Given the description of an element on the screen output the (x, y) to click on. 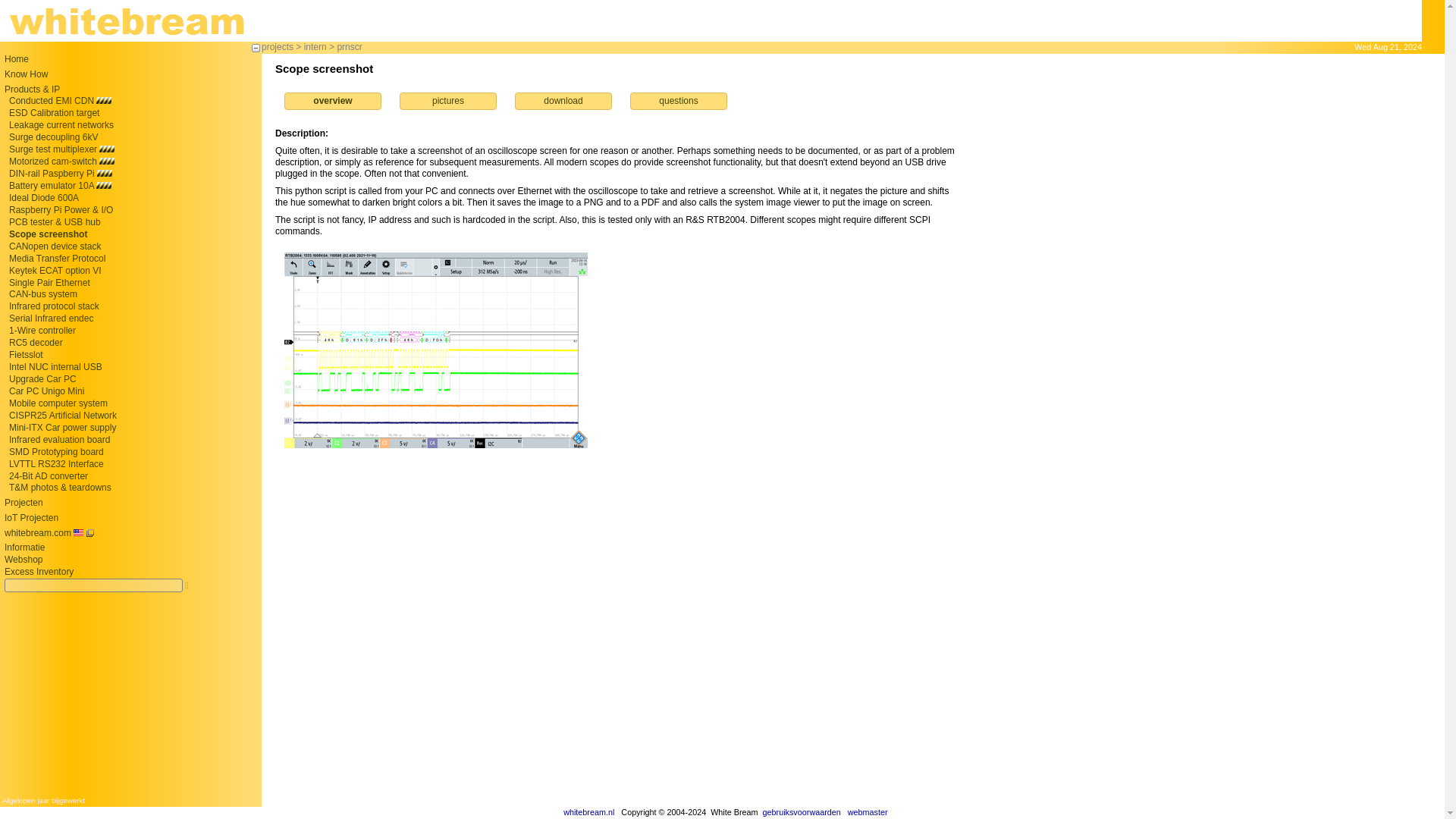
ESD Calibration target (53, 112)
Media Transfer Protocol (56, 258)
Fietsslot (25, 354)
Surge test multiplexer (52, 149)
Scope screenshot (47, 234)
Projecten (23, 502)
Keytek ECAT option VI (54, 270)
Conducted EMI CDN (51, 100)
Motorized cam-switch (52, 161)
24-Bit AD converter (47, 475)
